Given the description of an element on the screen output the (x, y) to click on. 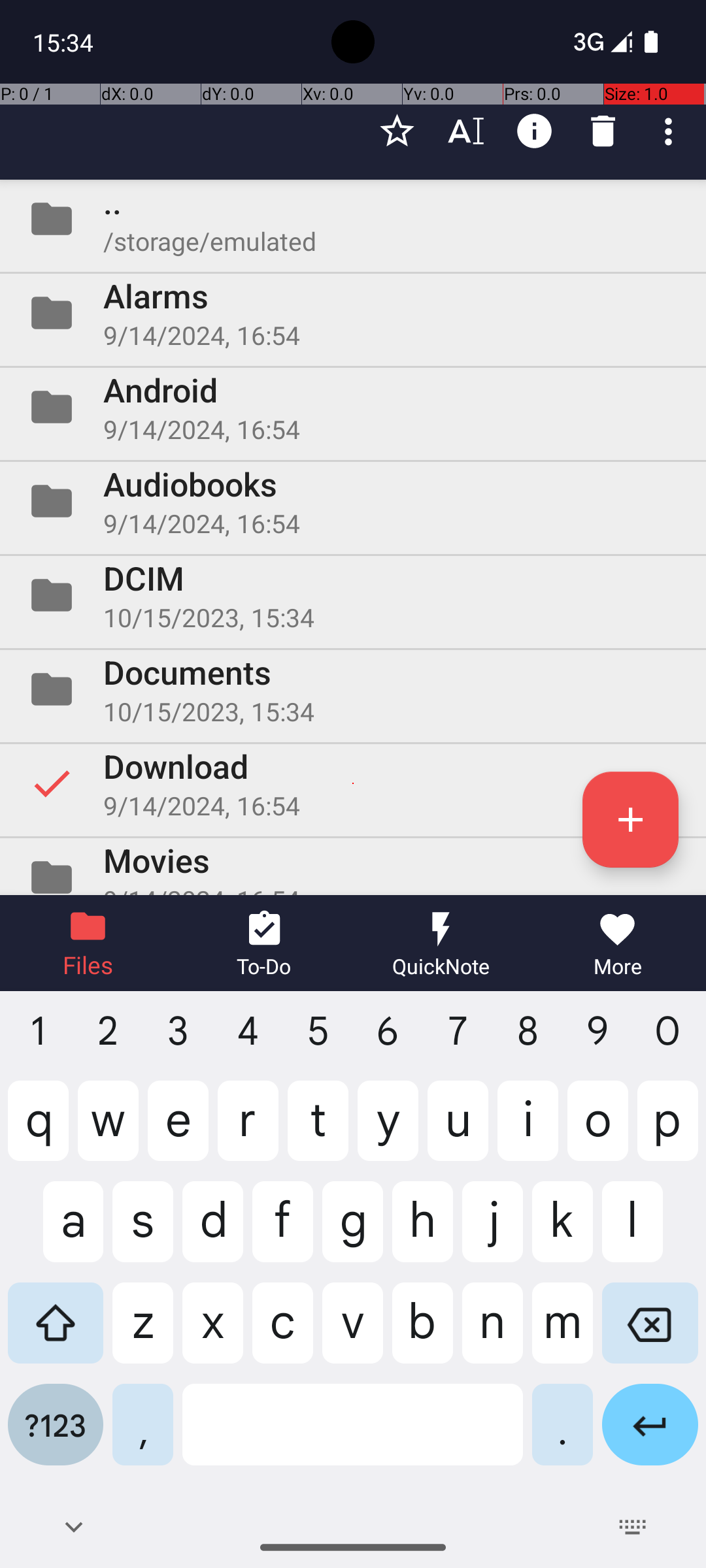
Favourite Element type: android.widget.TextView (396, 131)
Folder .. /storage/emulated/0 Element type: android.widget.LinearLayout (353, 218)
Folder Alarms 9/14/2024, 17:19 Element type: android.widget.LinearLayout (353, 312)
Folder Android 10/15/2023, 15:34 Element type: android.widget.LinearLayout (353, 406)
Folder Audiobooks 9/14/2024, 16:54 Element type: android.widget.LinearLayout (353, 500)
Folder DCIM 9/14/2024, 16:54 Element type: android.widget.LinearLayout (353, 594)
Folder Documents  Element type: android.widget.LinearLayout (353, 689)
Selected Download  Element type: android.widget.LinearLayout (353, 783)
Folder Movies  Element type: android.widget.LinearLayout (353, 866)
